Given the description of an element on the screen output the (x, y) to click on. 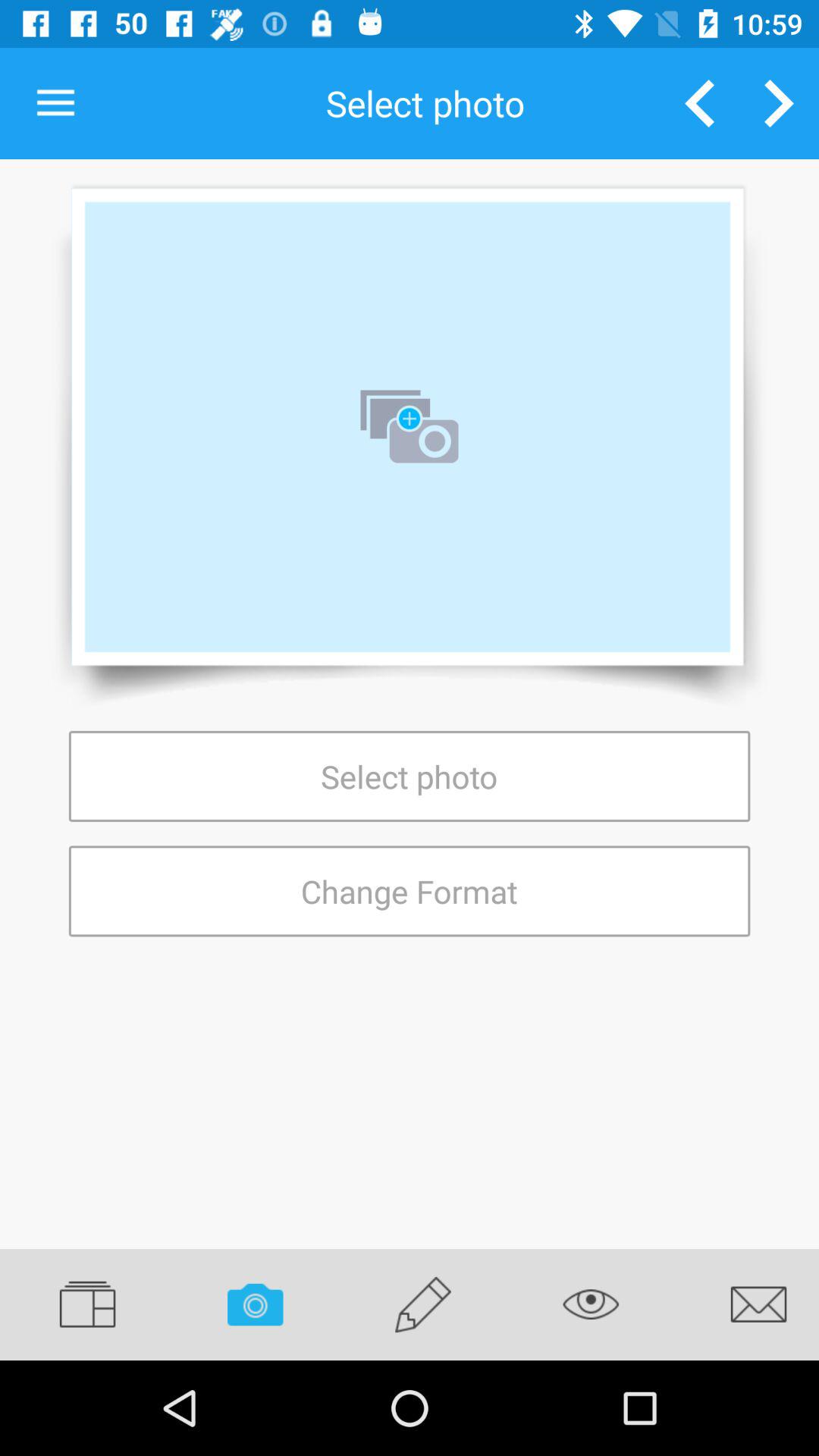
click the icon on the bottom right corner of the web page (746, 1304)
